Given the description of an element on the screen output the (x, y) to click on. 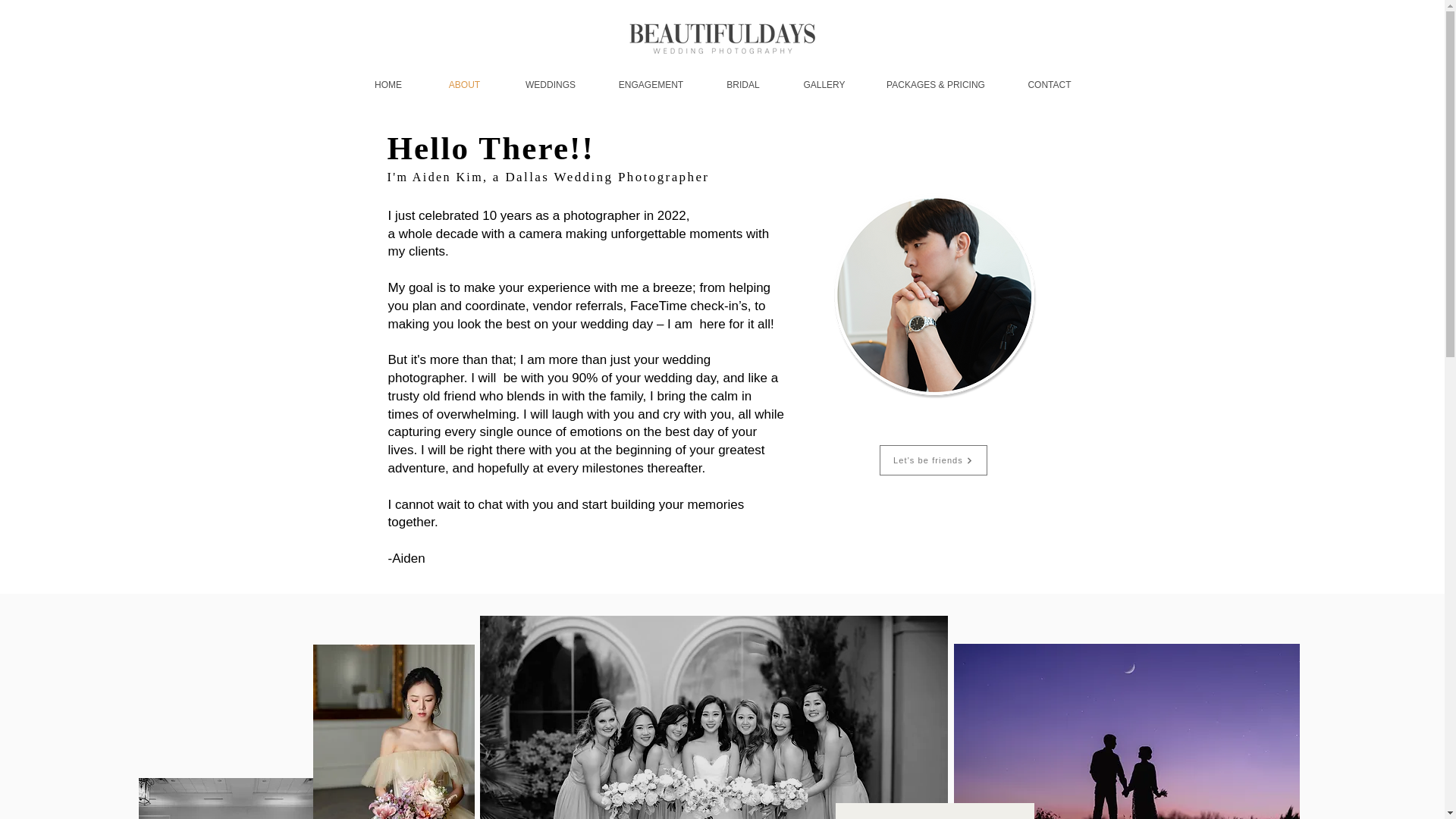
CONTACT (1050, 84)
ENGAGEMENT (649, 84)
Let's be friends (933, 460)
BRIDAL (742, 84)
ABOUT (464, 84)
HOME (387, 84)
WEDDINGS (550, 84)
GALLERY (824, 84)
